Given the description of an element on the screen output the (x, y) to click on. 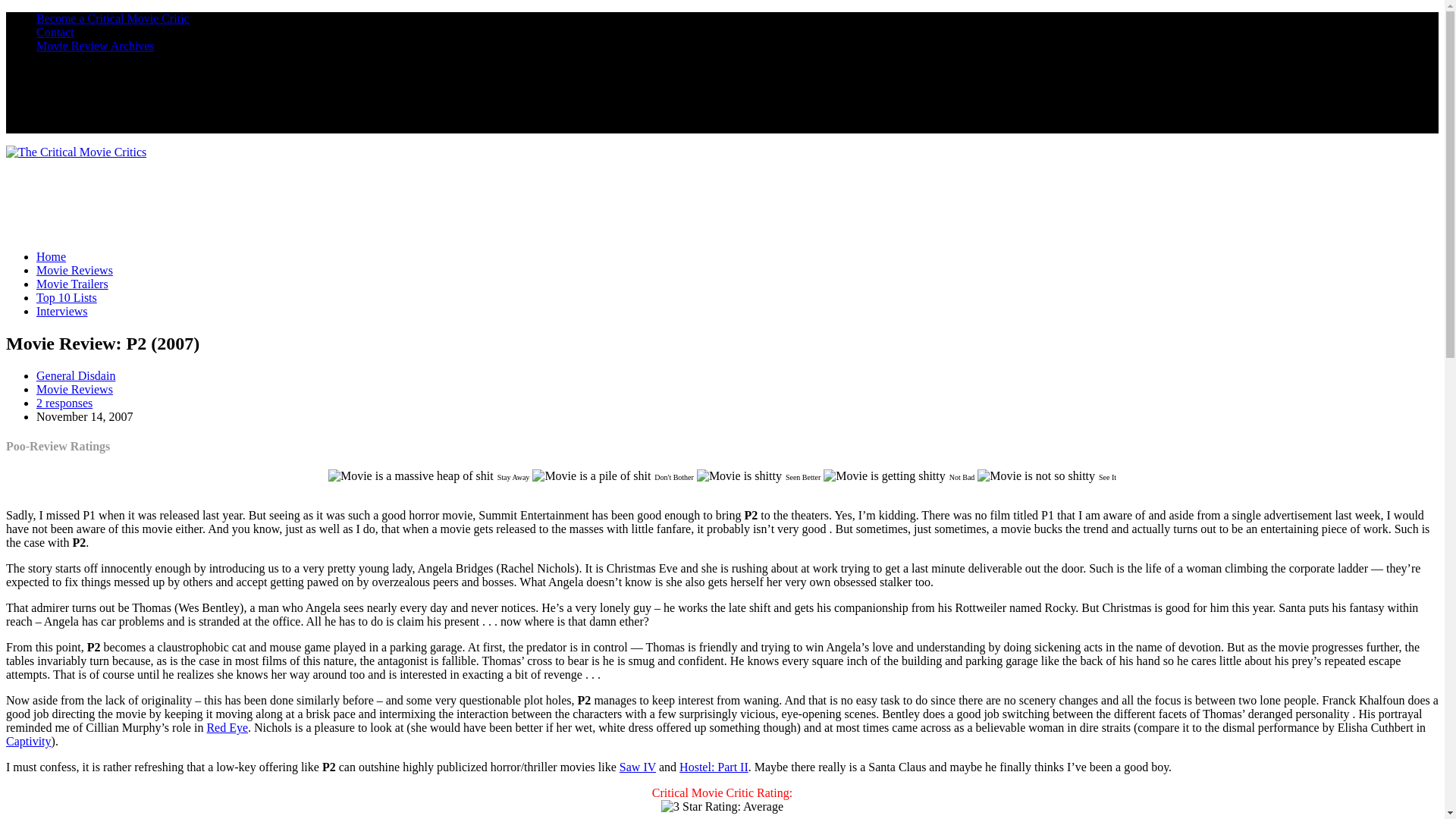
Homepage (50, 256)
Latest Movie Trailers (71, 283)
Top 10 Lists (66, 297)
Archives of Movie Reviews (95, 45)
Movie Trailers (71, 283)
Movie Reviews (74, 269)
Interviews (61, 310)
Latest Top 10 Lists (66, 297)
Posts by General Disdain (75, 375)
Saw IV (638, 766)
Go back to home (76, 151)
Contact The Critical Movie Critics (55, 31)
Latest Media Interviews (61, 310)
Join The Critical Movie Critics (112, 18)
Become a Critical Movie Critic (112, 18)
